Given the description of an element on the screen output the (x, y) to click on. 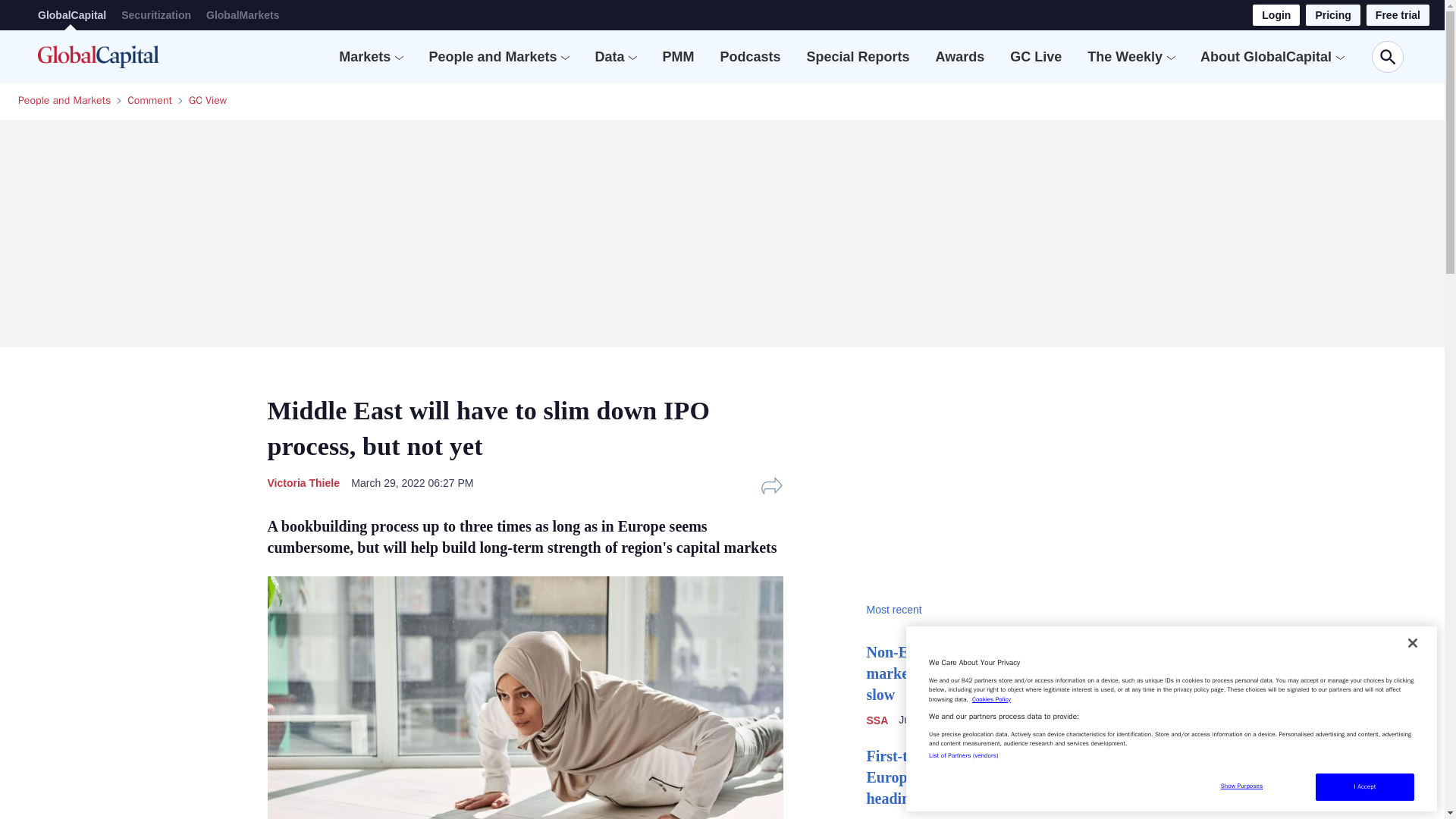
Securitization (155, 14)
GlobalMarkets (242, 14)
Free trial (1398, 14)
GlobalCapital (71, 14)
Login (1276, 14)
People and Markets (492, 56)
Share (771, 486)
Pricing (1332, 14)
